Given the description of an element on the screen output the (x, y) to click on. 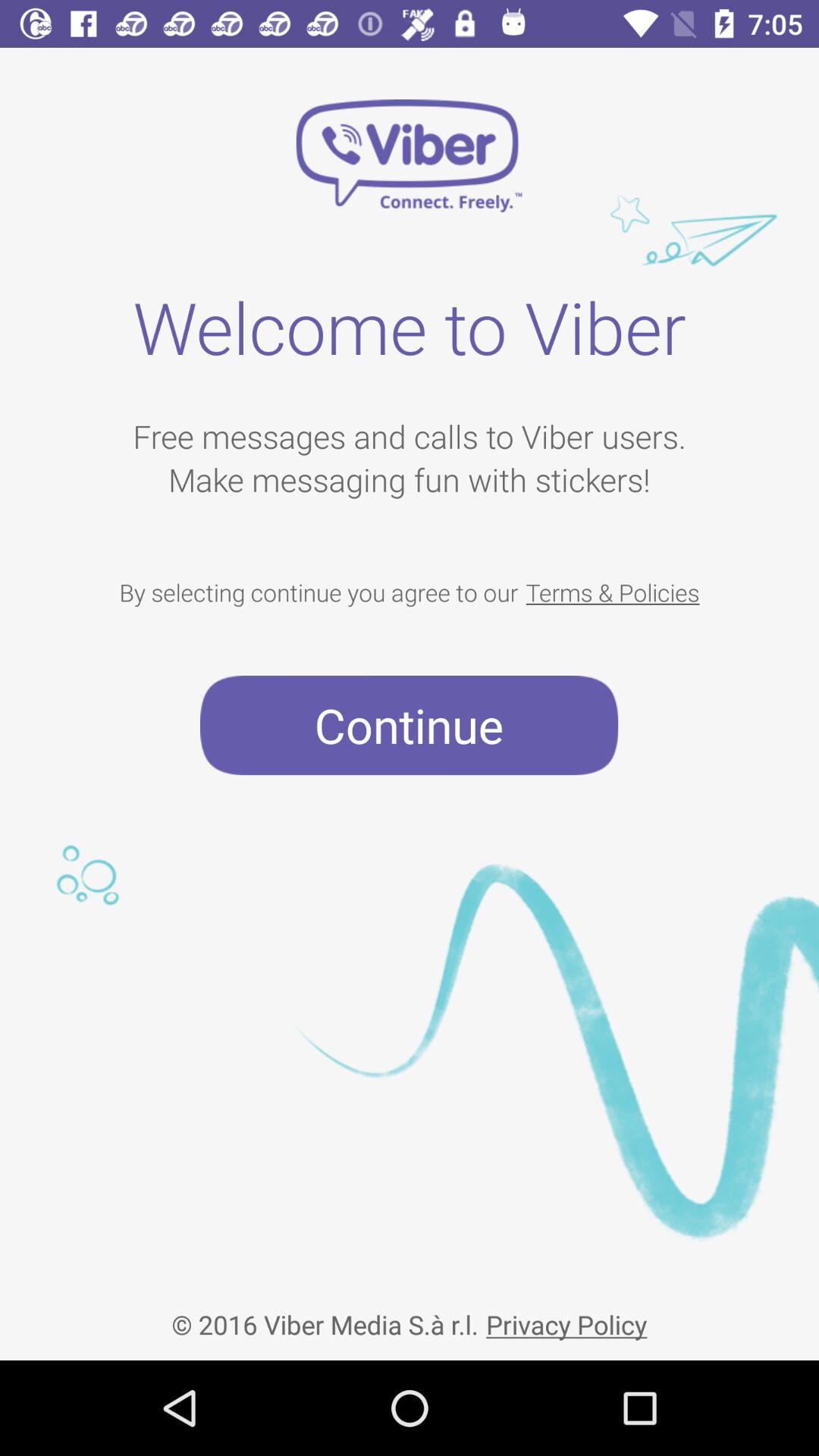
turn off the privacy policy at the bottom right corner (566, 1312)
